Given the description of an element on the screen output the (x, y) to click on. 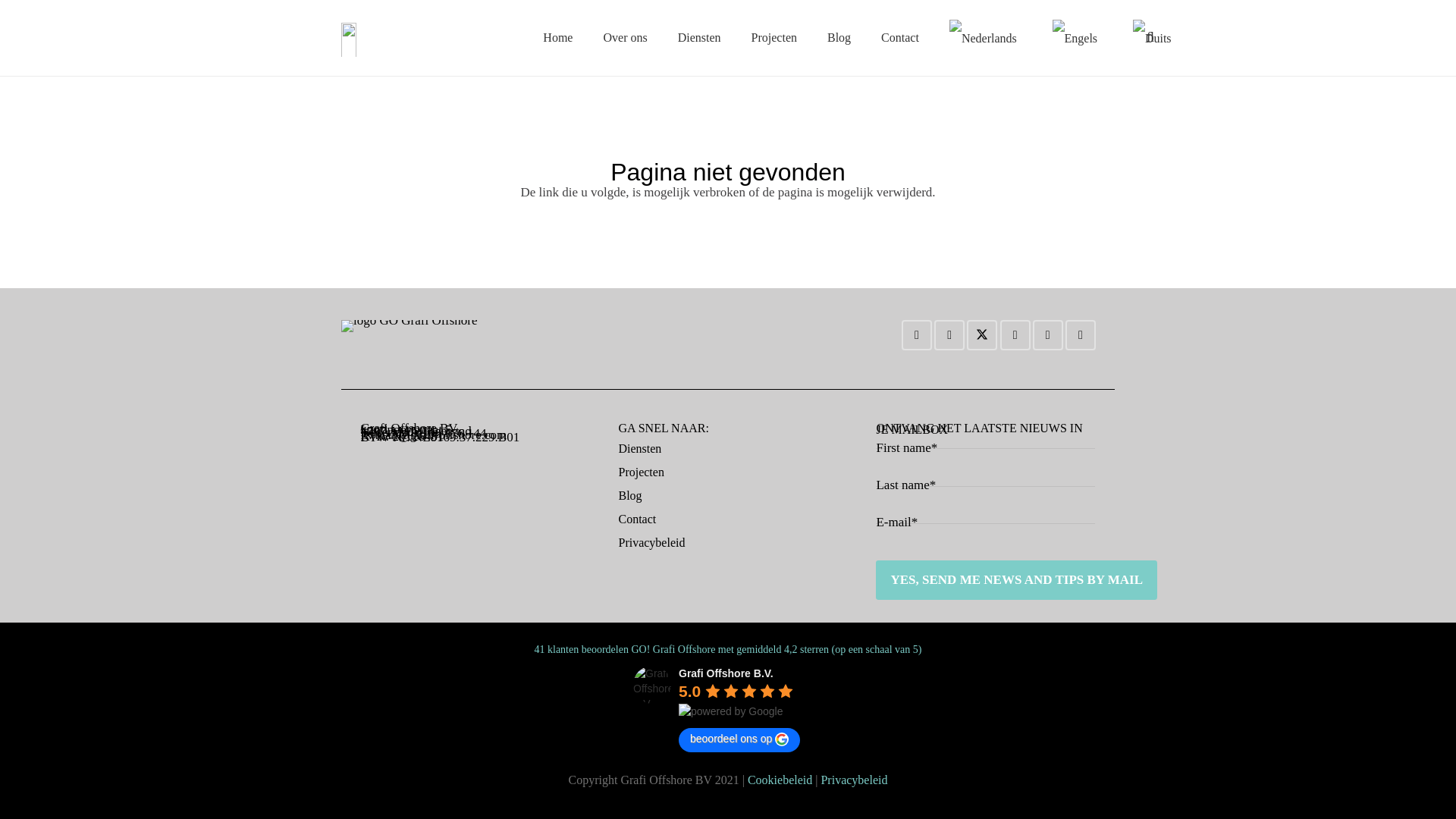
E-mail (916, 335)
Google (1015, 335)
Projecten (774, 37)
Blog (839, 37)
Grafi Offshore B.V. (652, 684)
Twitter (981, 335)
YES, SEND ME NEWS AND TIPS BY MAIL (1016, 579)
Diensten (699, 37)
Home (557, 37)
Facebook (948, 335)
